Given the description of an element on the screen output the (x, y) to click on. 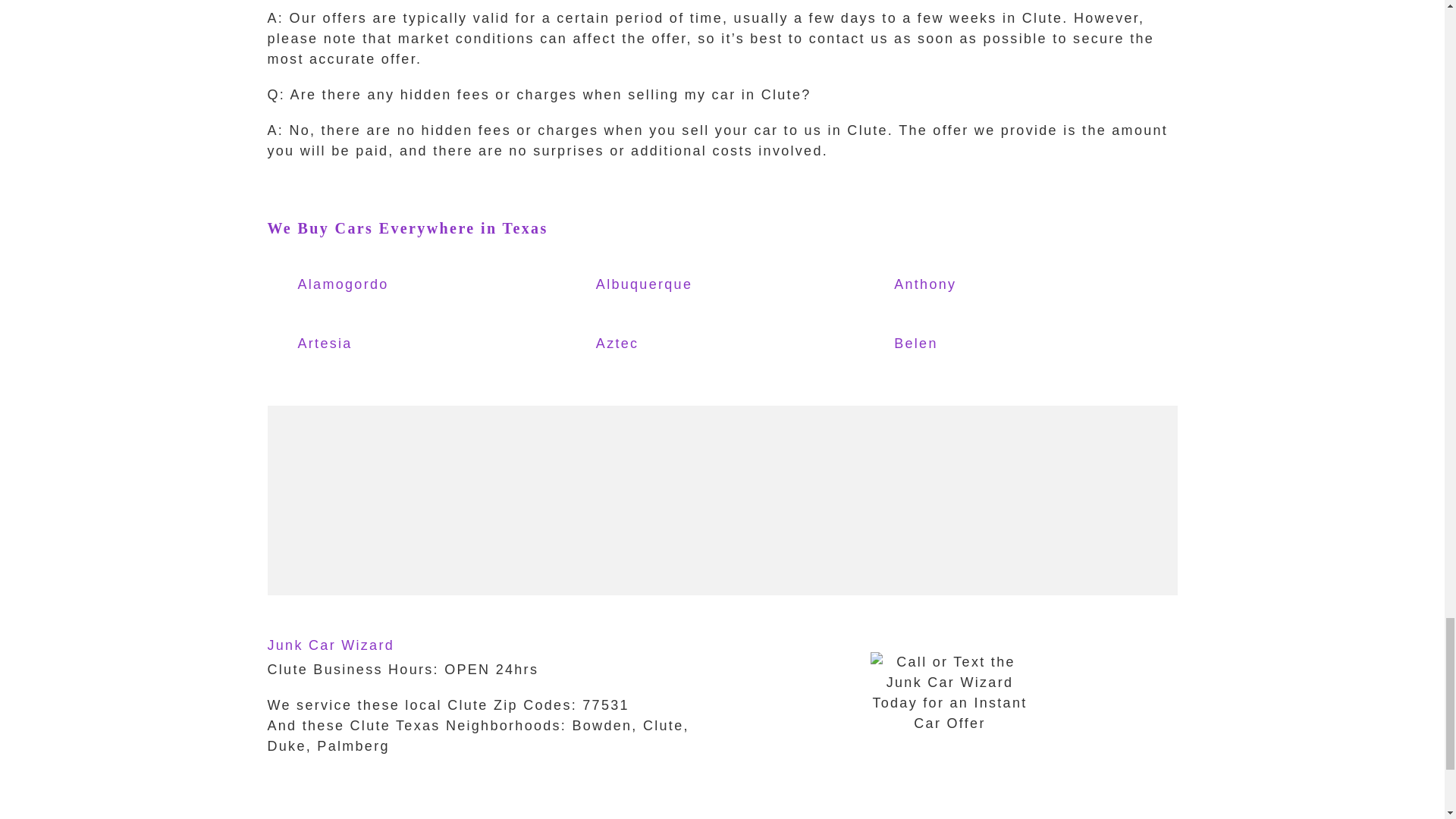
Belen (960, 344)
We Buy Cars Everywhere in Texas (406, 228)
Artesia (363, 344)
We Buy Junk Cars in Artesia, NM (363, 344)
We Buy Junk Cars in Albuquerque, NM (662, 285)
Alamogordo (363, 285)
We Buy Junk Cars in Alamogordo, NM (363, 285)
Anthony (960, 285)
We Buy Junk Cars in Aztec, NM (662, 344)
We Buy Junk Cars in Anthony, NM (960, 285)
